Given the description of an element on the screen output the (x, y) to click on. 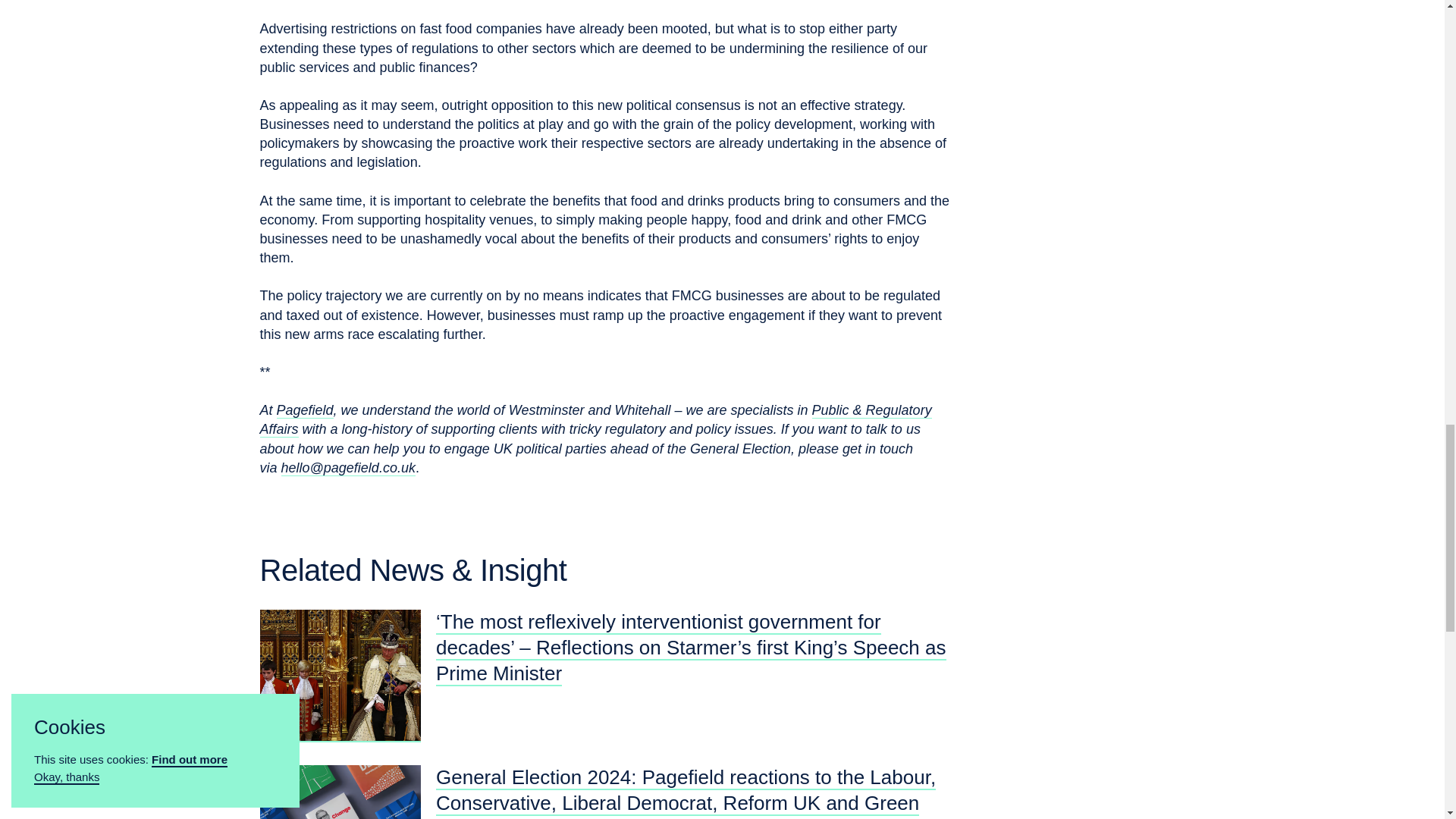
Pagefield (304, 437)
